Given the description of an element on the screen output the (x, y) to click on. 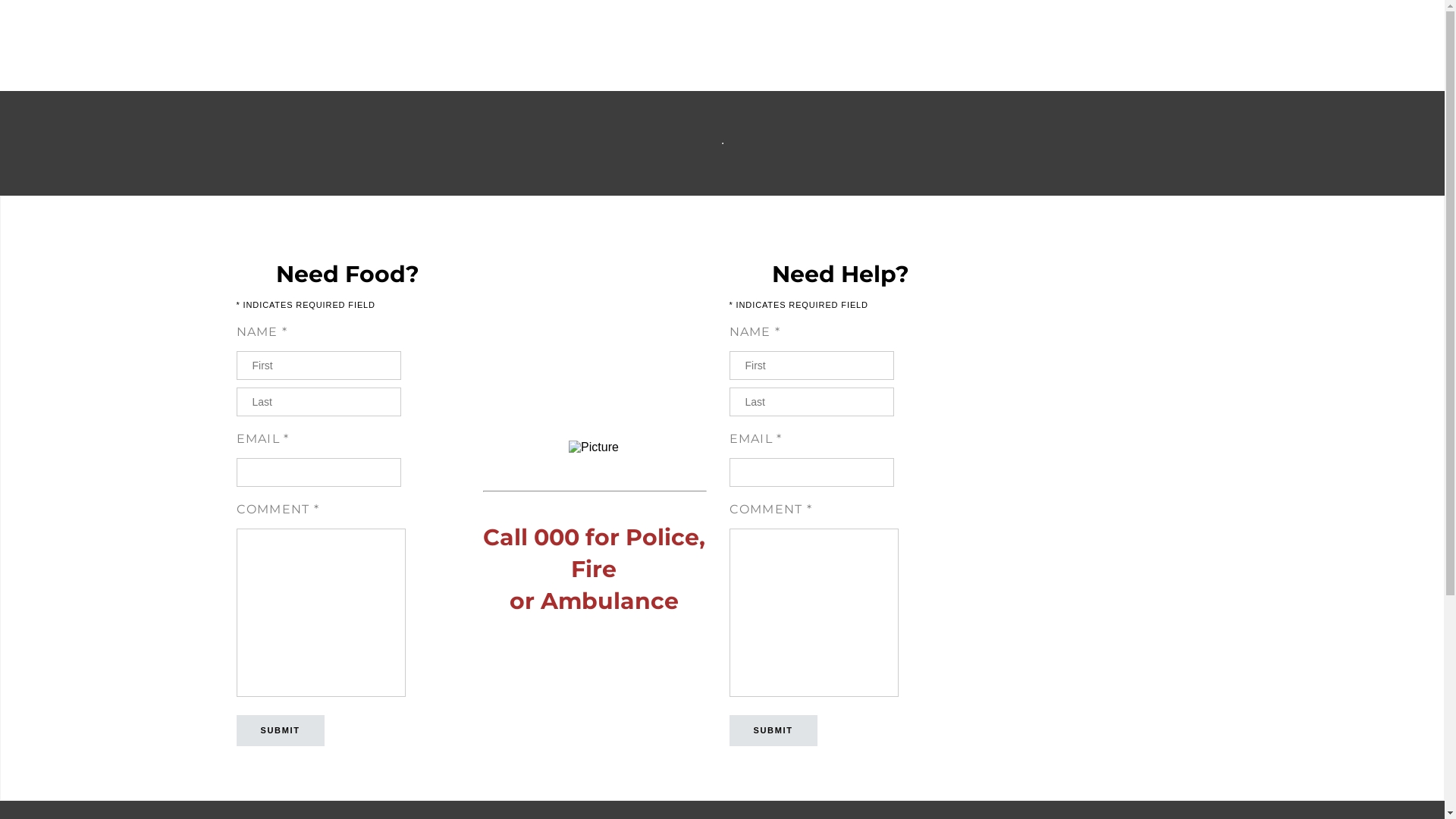
SUBMIT Element type: text (773, 730)
SUBMIT Element type: text (280, 730)
